Given the description of an element on the screen output the (x, y) to click on. 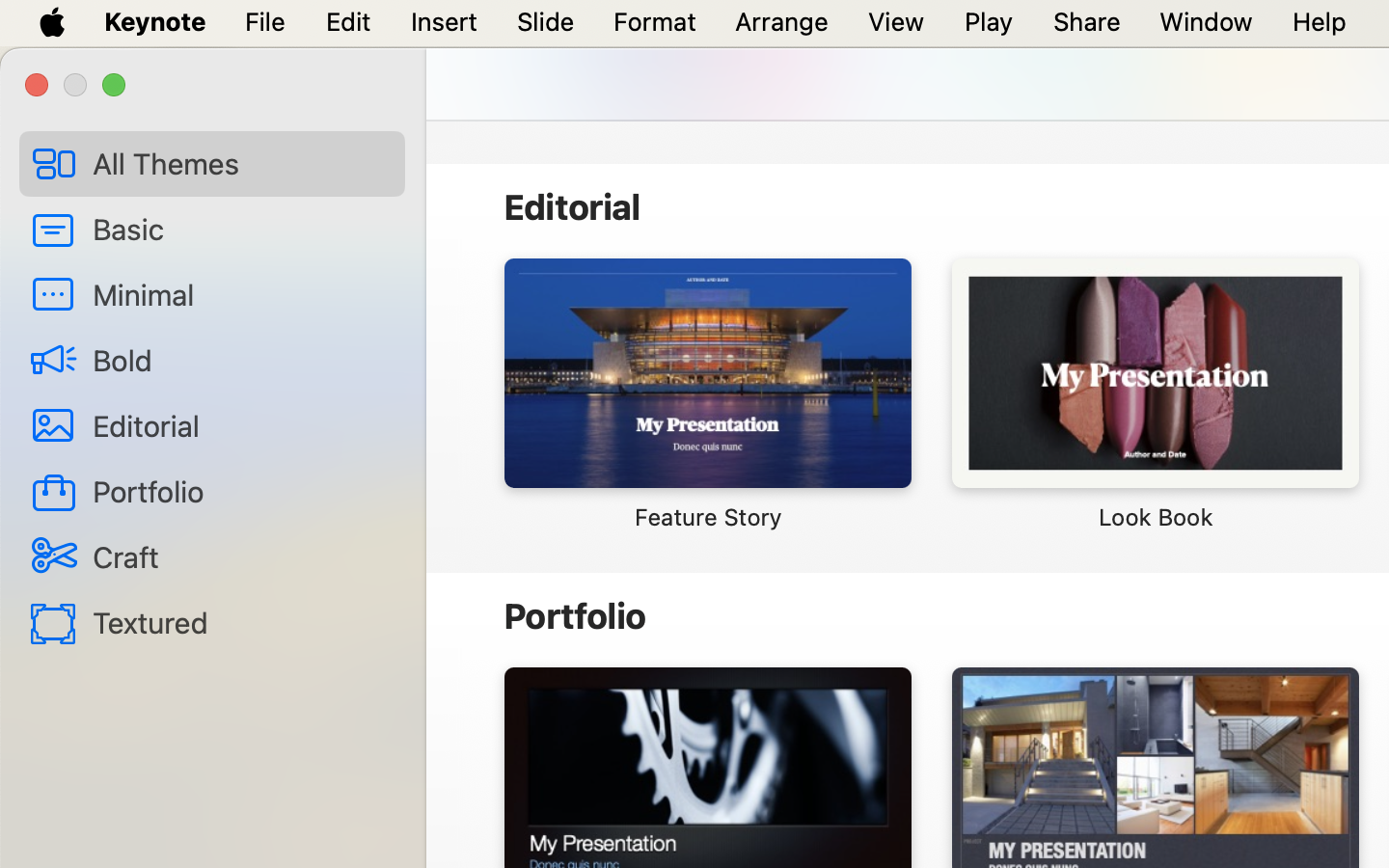
All Themes Element type: AXStaticText (240, 162)
Editorial Element type: AXStaticText (240, 424)
Bold Element type: AXStaticText (240, 359)
Craft Element type: AXStaticText (240, 556)
Basic Element type: AXStaticText (240, 228)
